Given the description of an element on the screen output the (x, y) to click on. 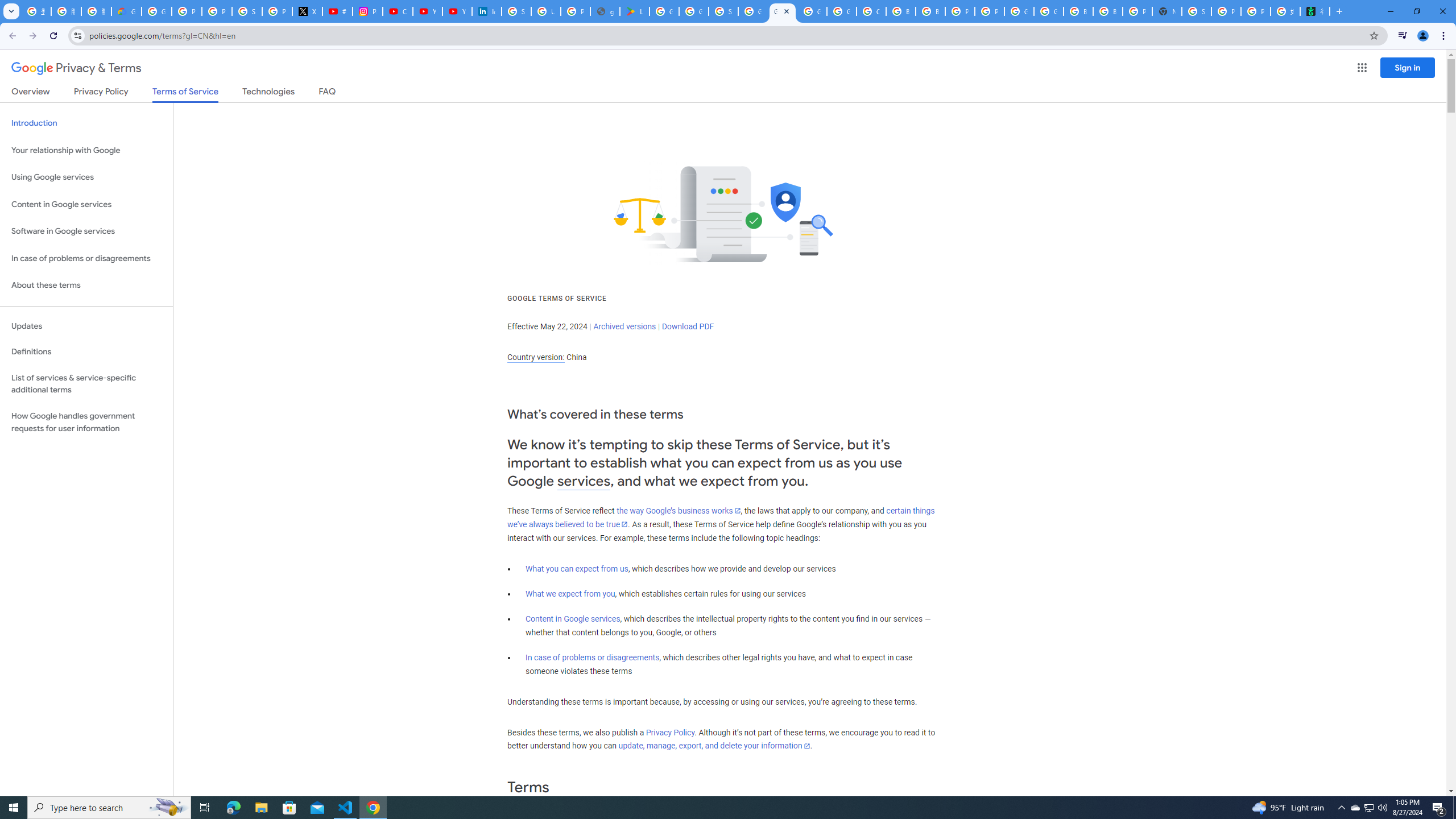
What we expect from you (570, 593)
List of services & service-specific additional terms (86, 383)
YouTube Culture & Trends - YouTube Top 10, 2021 (456, 11)
Sign in - Google Accounts (515, 11)
Sign in - Google Accounts (1196, 11)
Google Workspace - Specific Terms (693, 11)
Sign in - Google Accounts (723, 11)
